Given the description of an element on the screen output the (x, y) to click on. 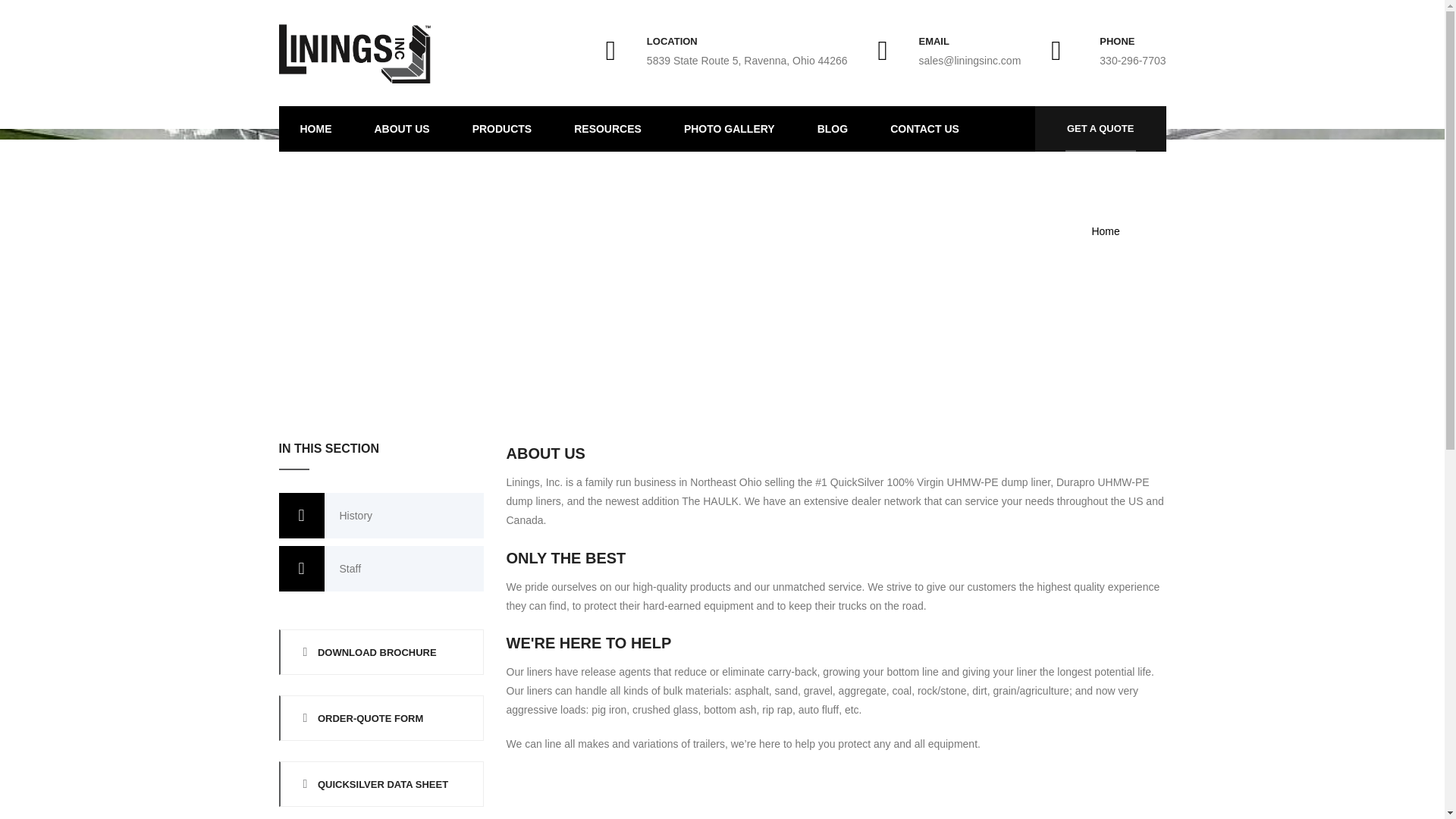
CONTACT US (924, 128)
ORDER-QUOTE FORM (381, 718)
BLOG (832, 128)
PRODUCTS (502, 128)
DOWNLOAD BROCHURE (381, 651)
ABOUT US (402, 128)
PHOTO GALLERY (729, 128)
GET A QUOTE (1100, 128)
Home (1104, 231)
Staff (381, 568)
RESOURCES (607, 128)
History (381, 515)
QUICKSILVER DATA SHEET (381, 783)
HOME (316, 128)
